Given the description of an element on the screen output the (x, y) to click on. 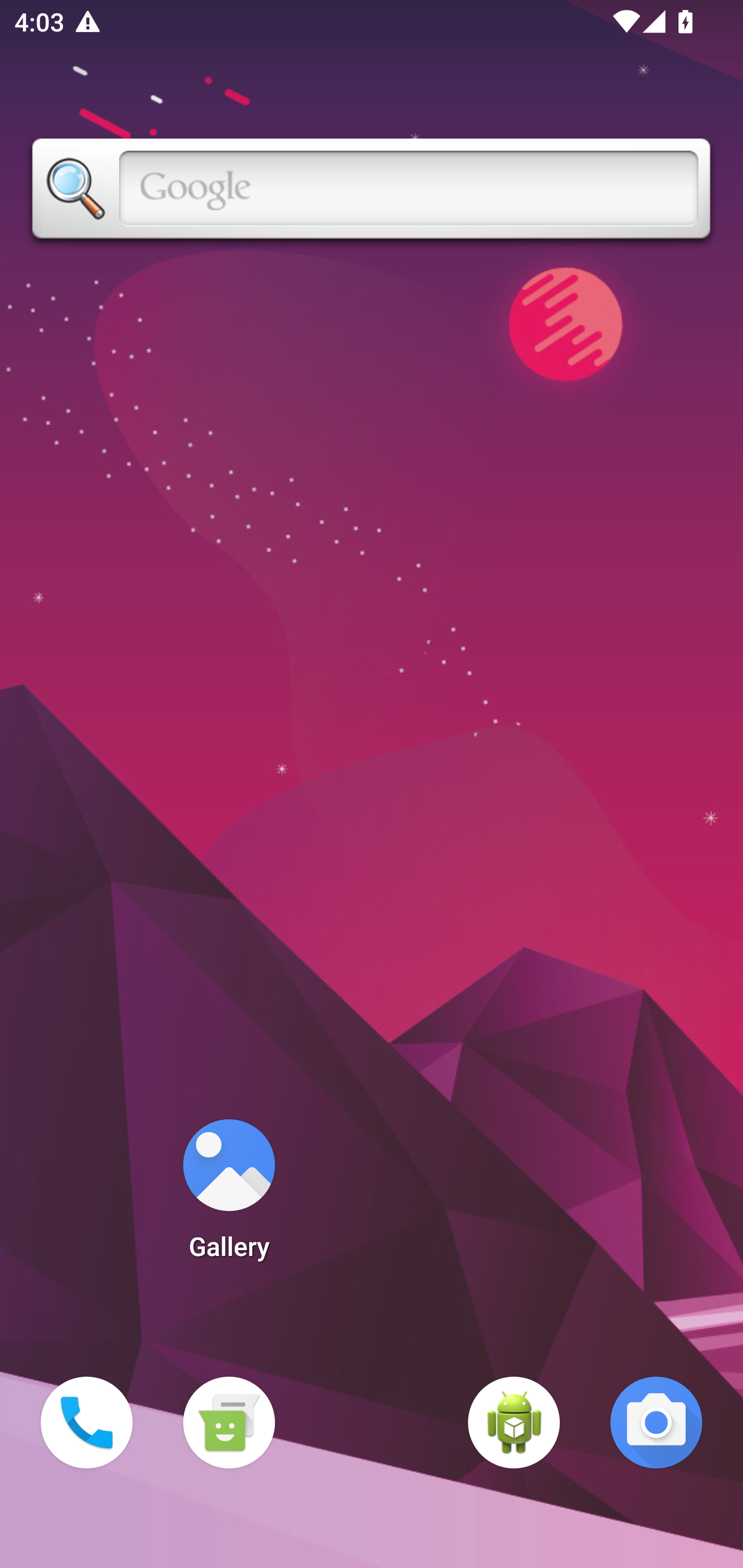
Gallery (228, 1195)
Phone (86, 1422)
Messaging (228, 1422)
WebView Browser Tester (513, 1422)
Camera (656, 1422)
